Given the description of an element on the screen output the (x, y) to click on. 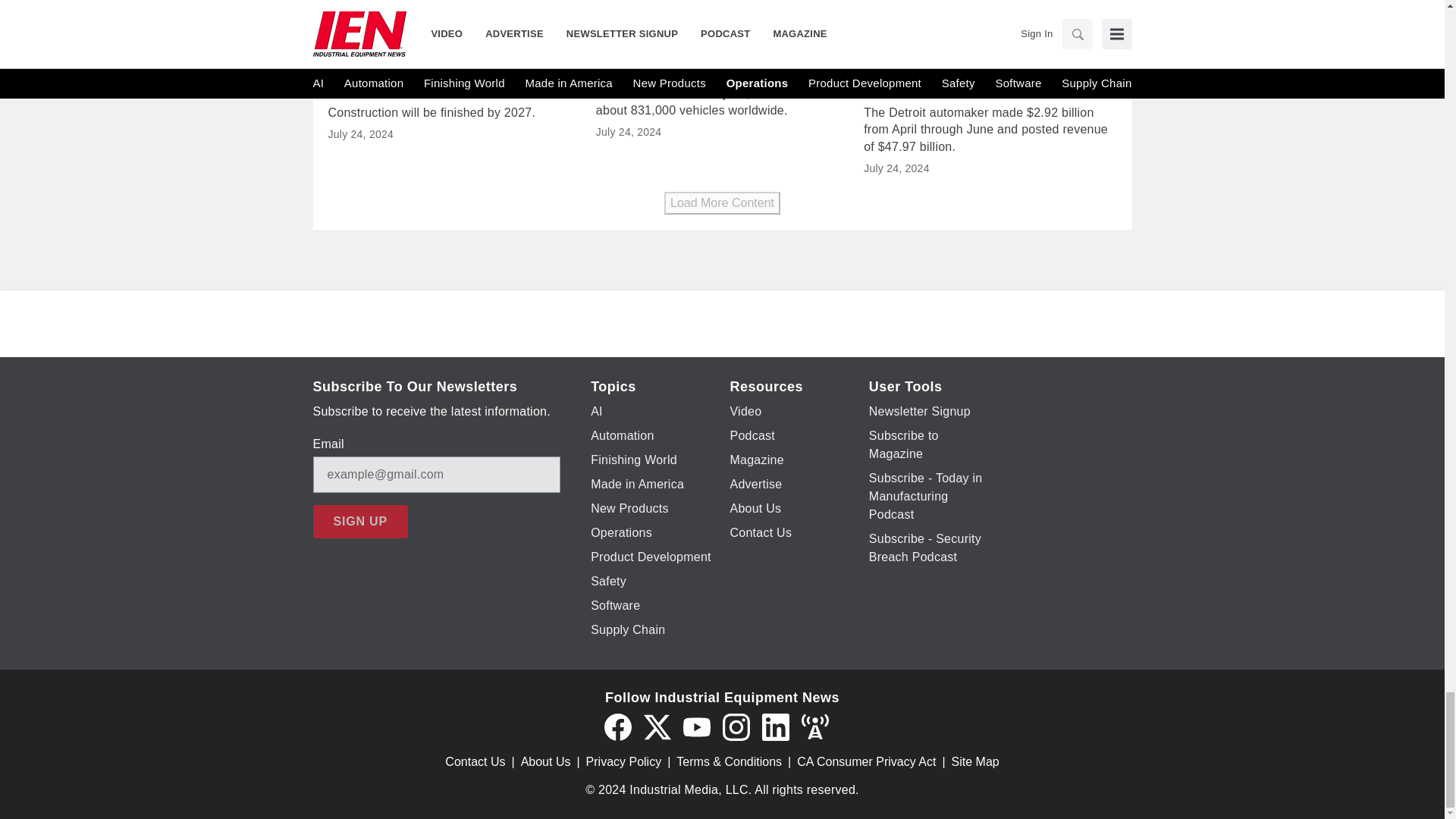
LinkedIn icon (775, 727)
Twitter X icon (656, 727)
Instagram icon (735, 727)
Facebook icon (617, 727)
YouTube icon (696, 727)
